Given the description of an element on the screen output the (x, y) to click on. 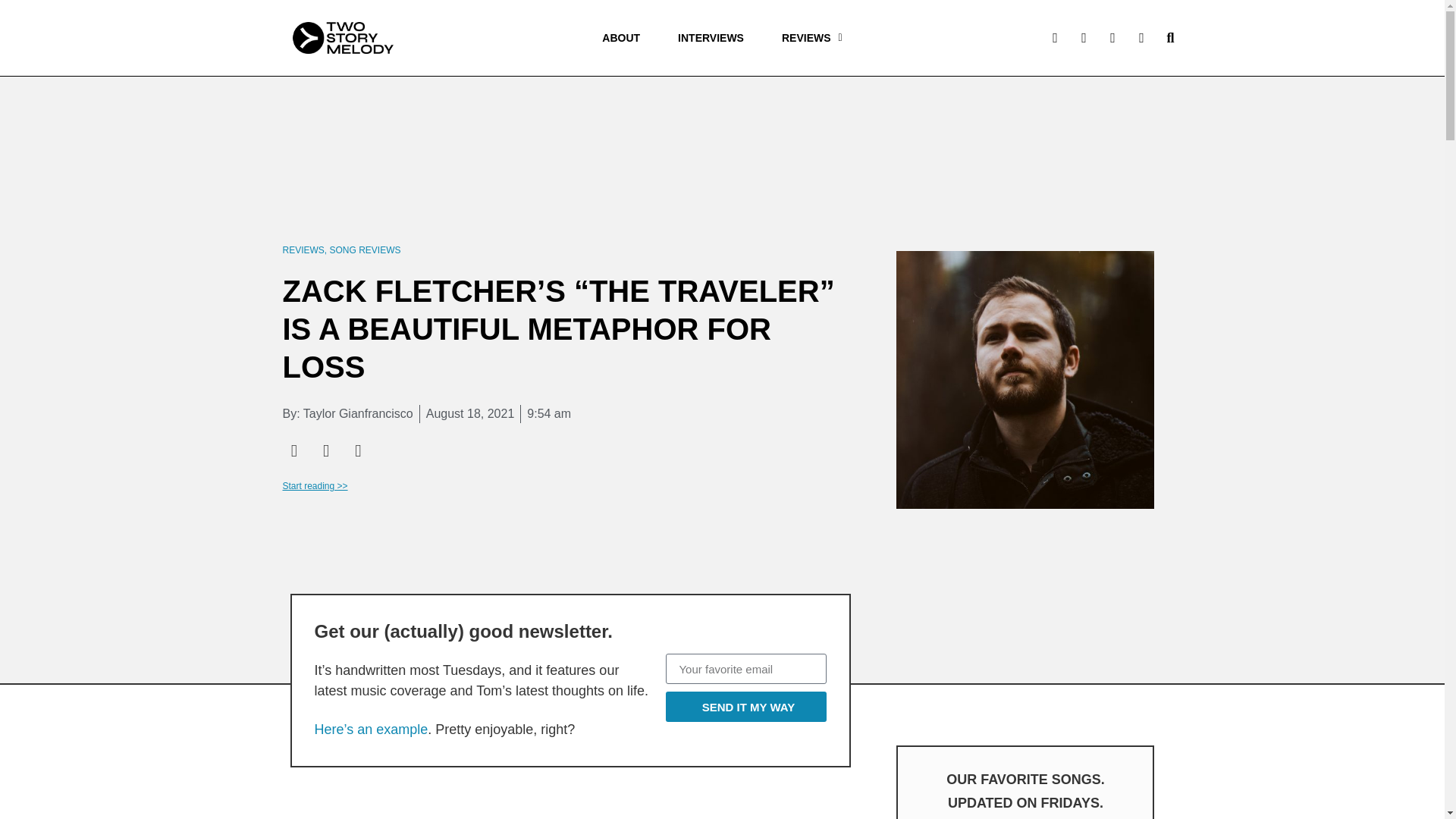
SONG REVIEWS (365, 249)
REVIEWS (812, 37)
SEND IT MY WAY (746, 706)
ABOUT (621, 37)
REVIEWS (302, 249)
INTERVIEWS (711, 37)
By: Taylor Gianfrancisco (347, 413)
